Given the description of an element on the screen output the (x, y) to click on. 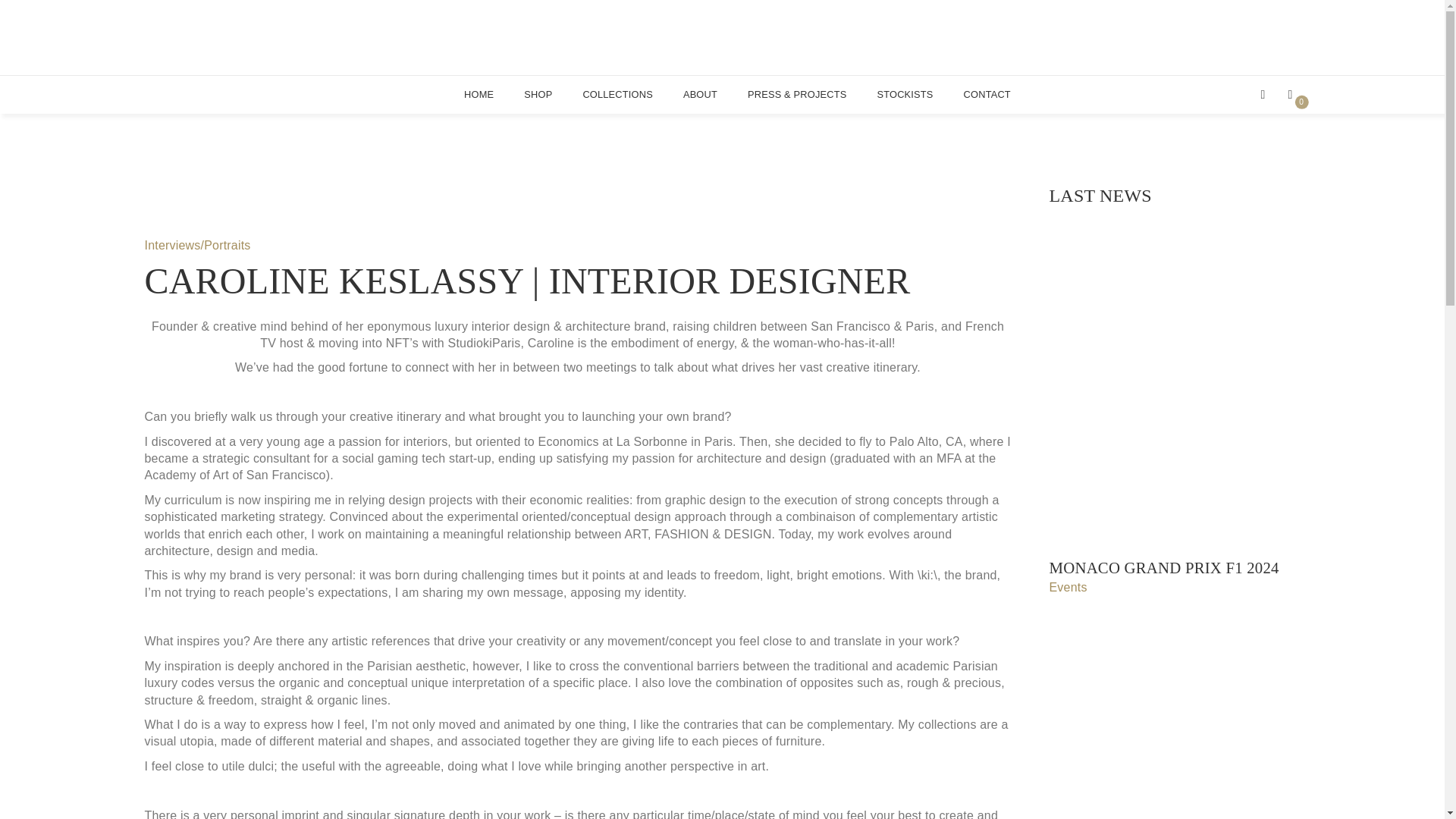
COLLECTIONS (617, 94)
SHOP (537, 94)
MONACO GRAND PRIX F1 2024 (1174, 568)
CONTACT (1293, 94)
Events (986, 94)
Back to Home (1174, 587)
HOME (722, 38)
STOCKISTS (478, 94)
MY ACCOUNT (904, 94)
